Given the description of an element on the screen output the (x, y) to click on. 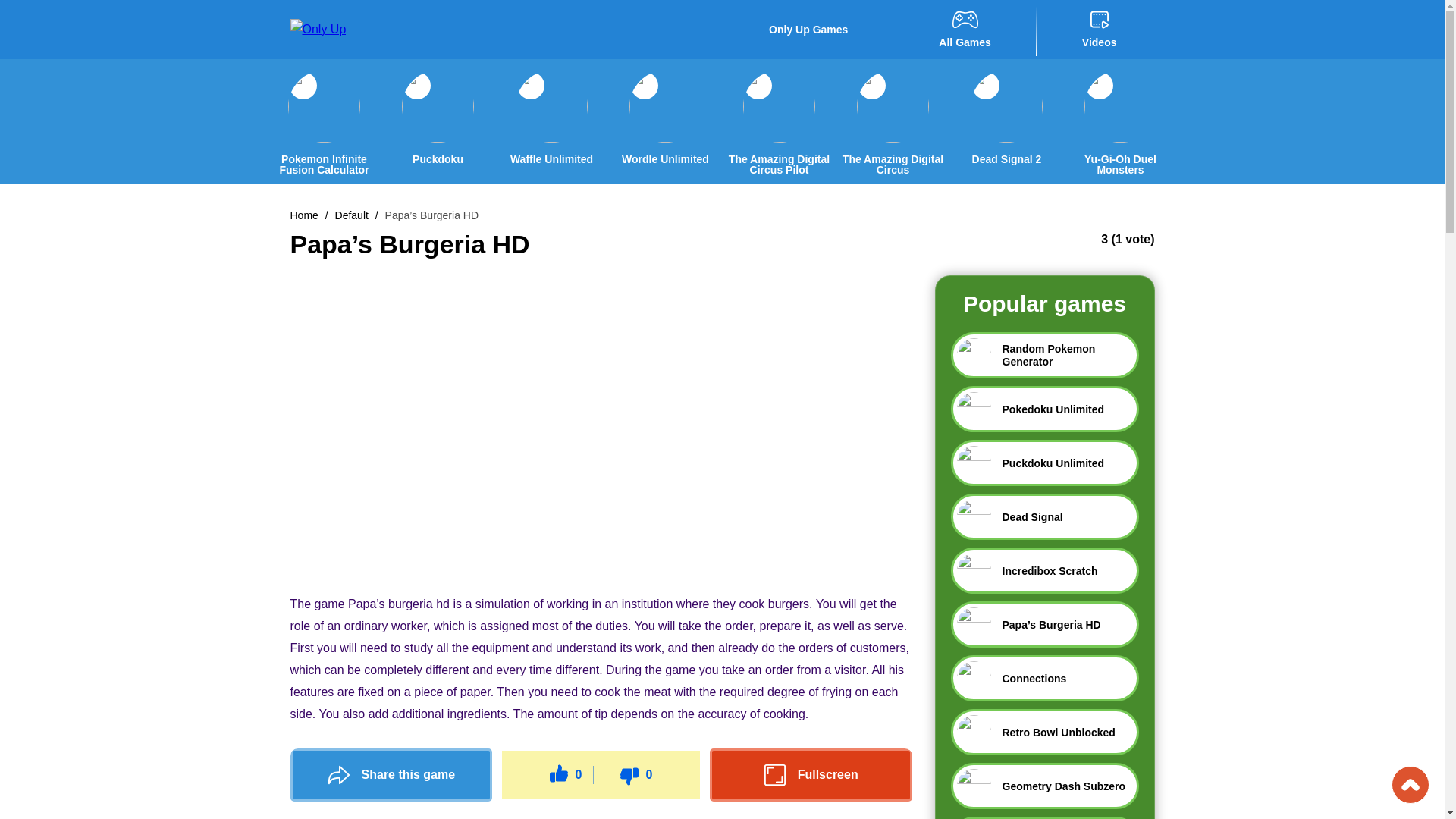
Pokemon Infinite Fusion Calculator (323, 122)
Only Up Games (807, 29)
Dead Signal (1044, 516)
Share this game (390, 774)
Random Pokemon Generator (1044, 355)
Videos (1098, 29)
Default (351, 215)
Geometry Dash Subzero (1044, 785)
Geometry Dash Subzero (1044, 785)
Pokemon Infinite Fusion Calculator (323, 164)
